Given the description of an element on the screen output the (x, y) to click on. 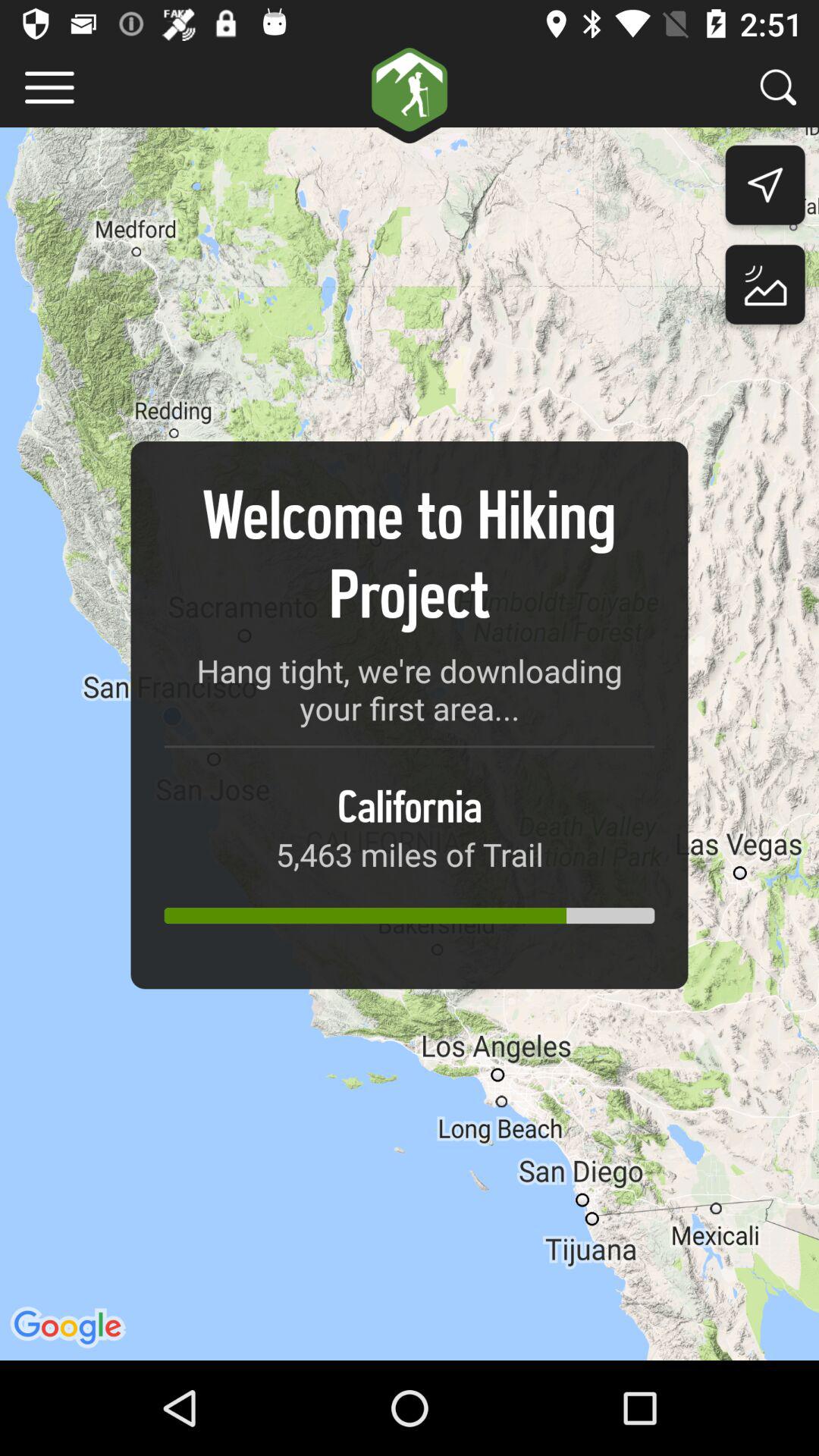
search for item (778, 87)
